Given the description of an element on the screen output the (x, y) to click on. 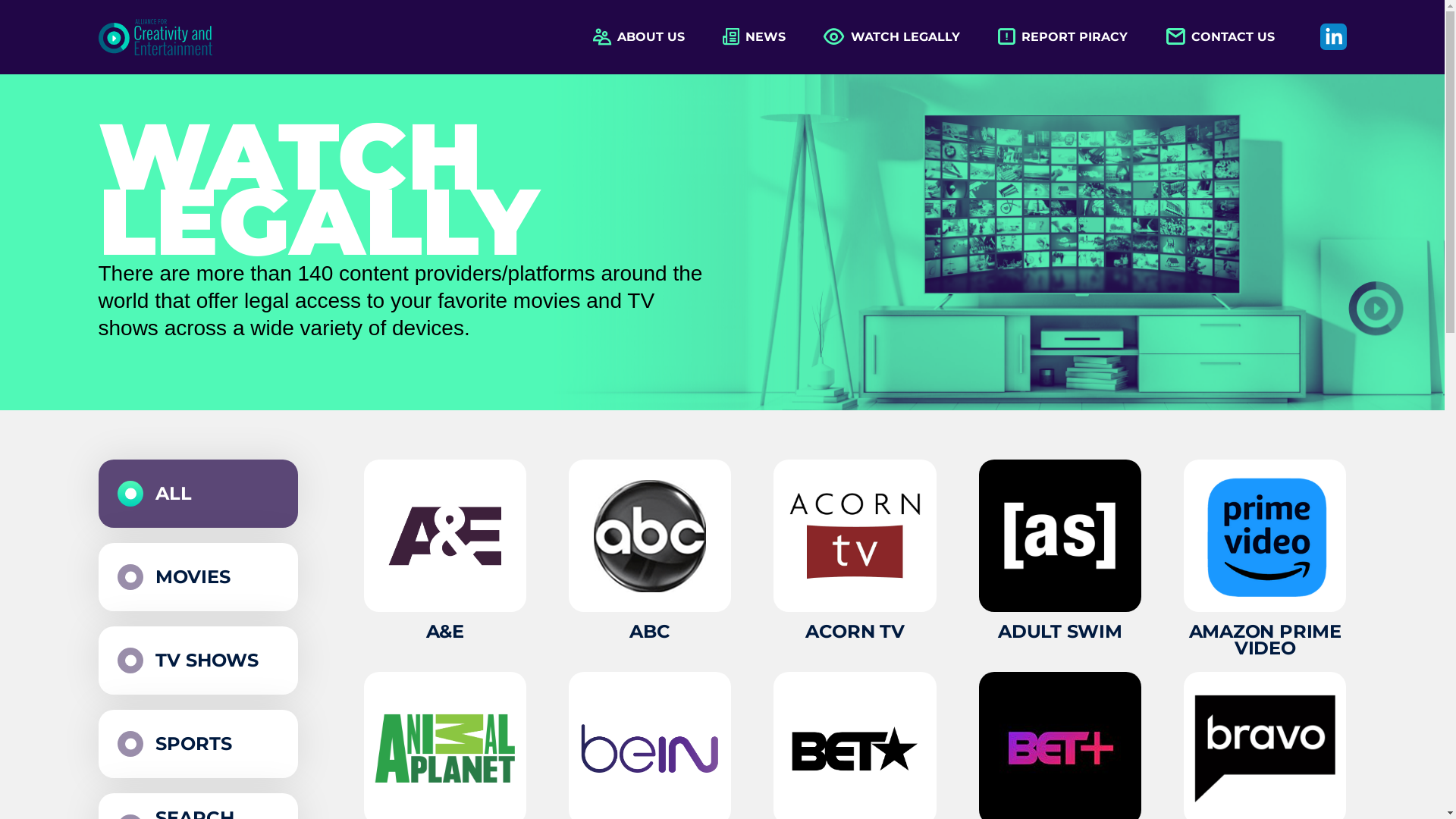
ALLIANCE4CREATIVITY.COM Element type: text (940, 481)
ENGLISH Element type: text (1154, 17)
